Given the description of an element on the screen output the (x, y) to click on. 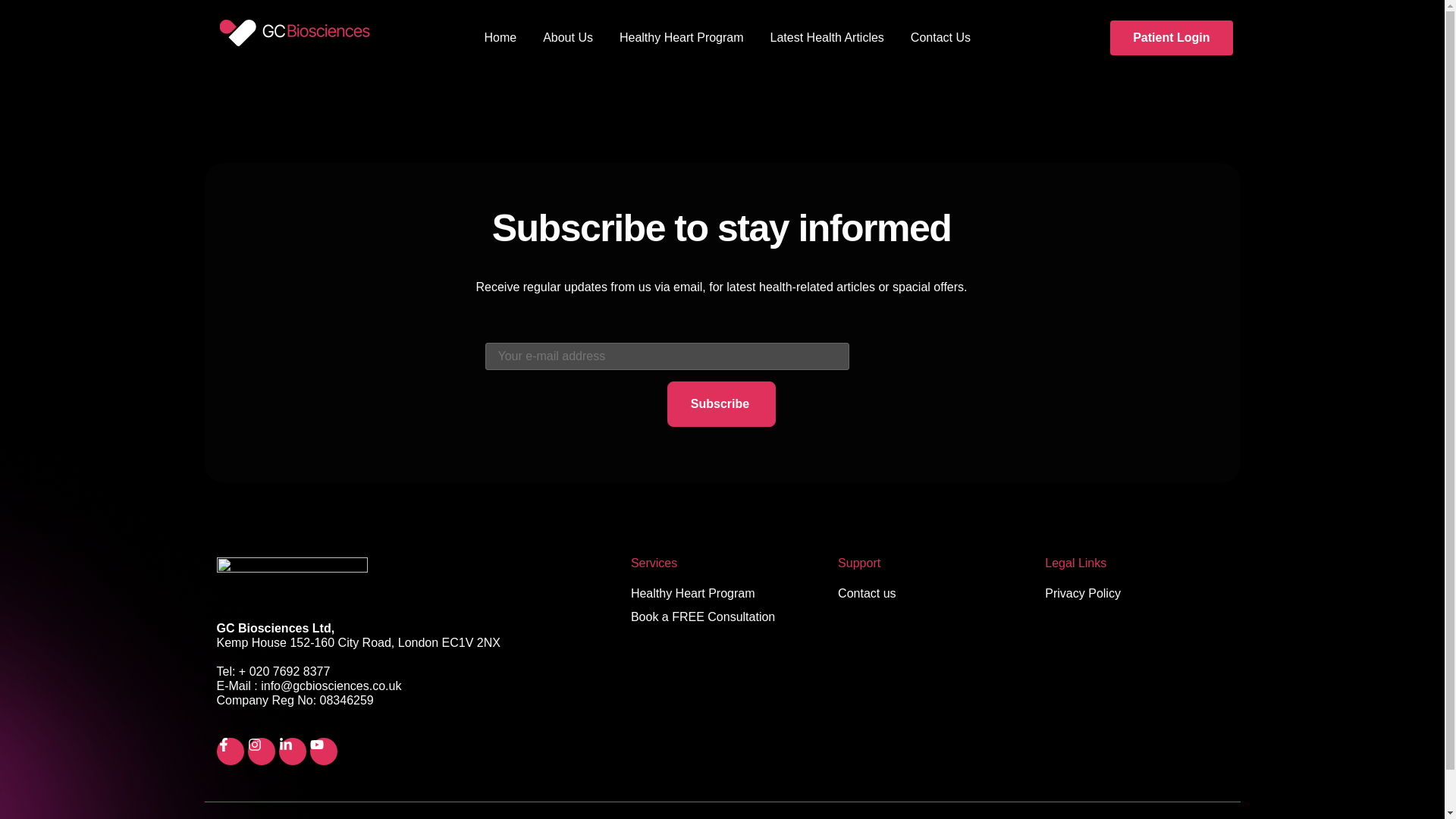
Patient Login (1170, 37)
Subscribe (721, 403)
Group 62 (302, 37)
Contact Us (941, 37)
Book a FREE Consultation (721, 617)
Latest Health Articles (826, 37)
Contact us (929, 593)
Healthy Heart Program (721, 593)
Healthy Heart Program (682, 37)
Privacy Policy (1136, 593)
